Given the description of an element on the screen output the (x, y) to click on. 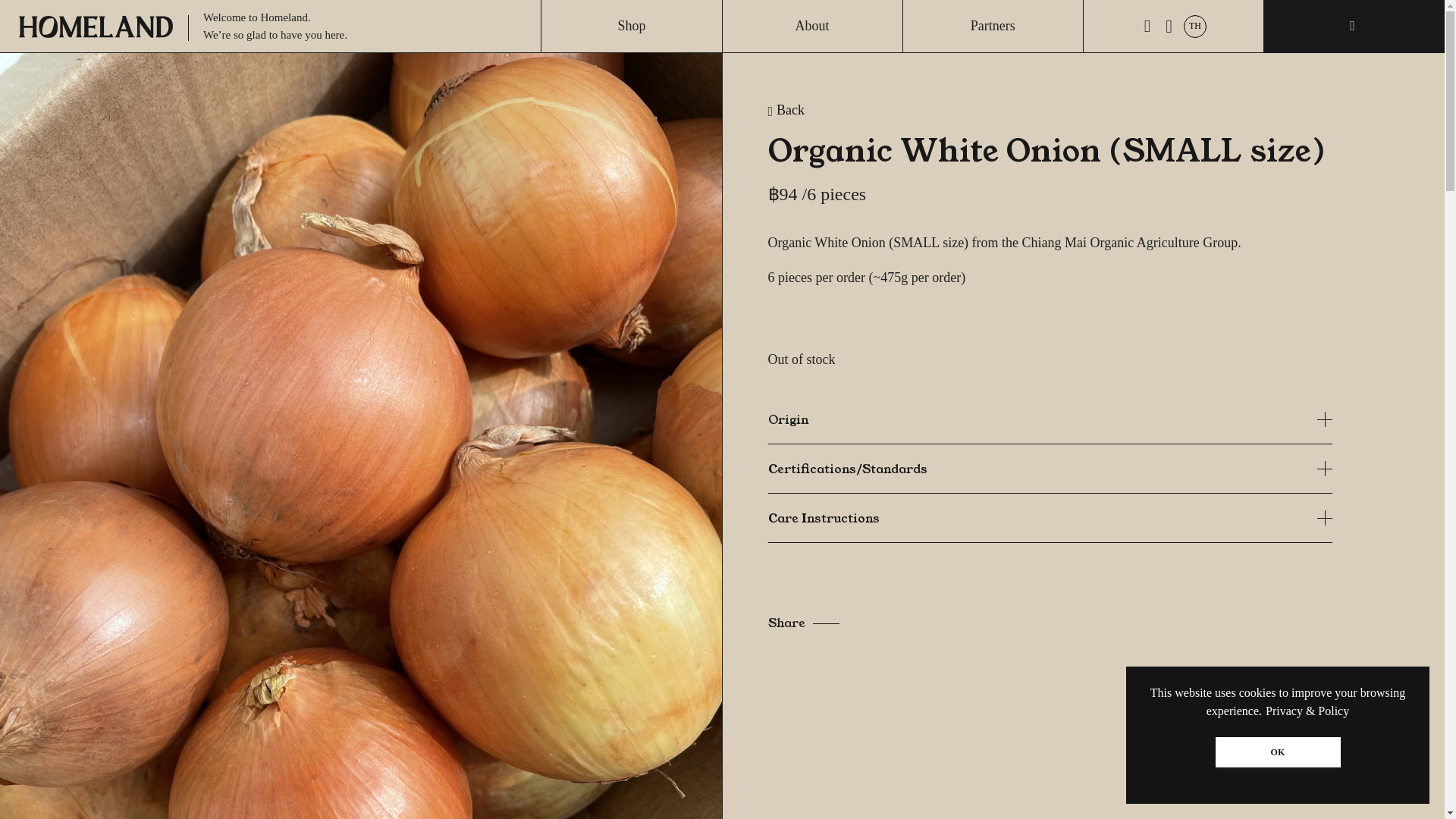
About (811, 25)
Shop (631, 25)
Partners (992, 25)
